Given the description of an element on the screen output the (x, y) to click on. 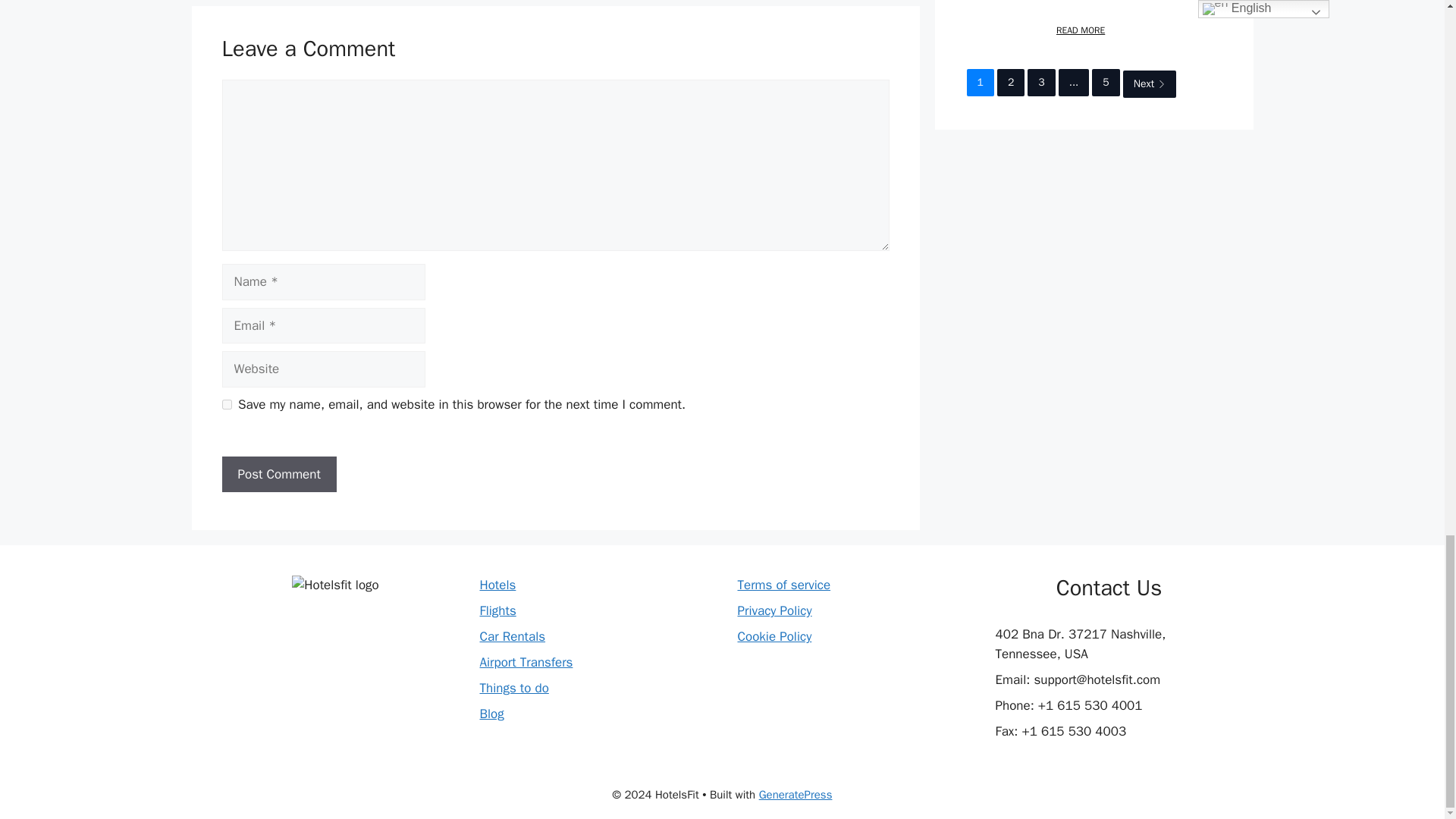
Post Comment (278, 474)
Search Hotel Deals (497, 584)
Search Flight Deals (497, 610)
yes (226, 404)
Post Comment (278, 474)
